Given the description of an element on the screen output the (x, y) to click on. 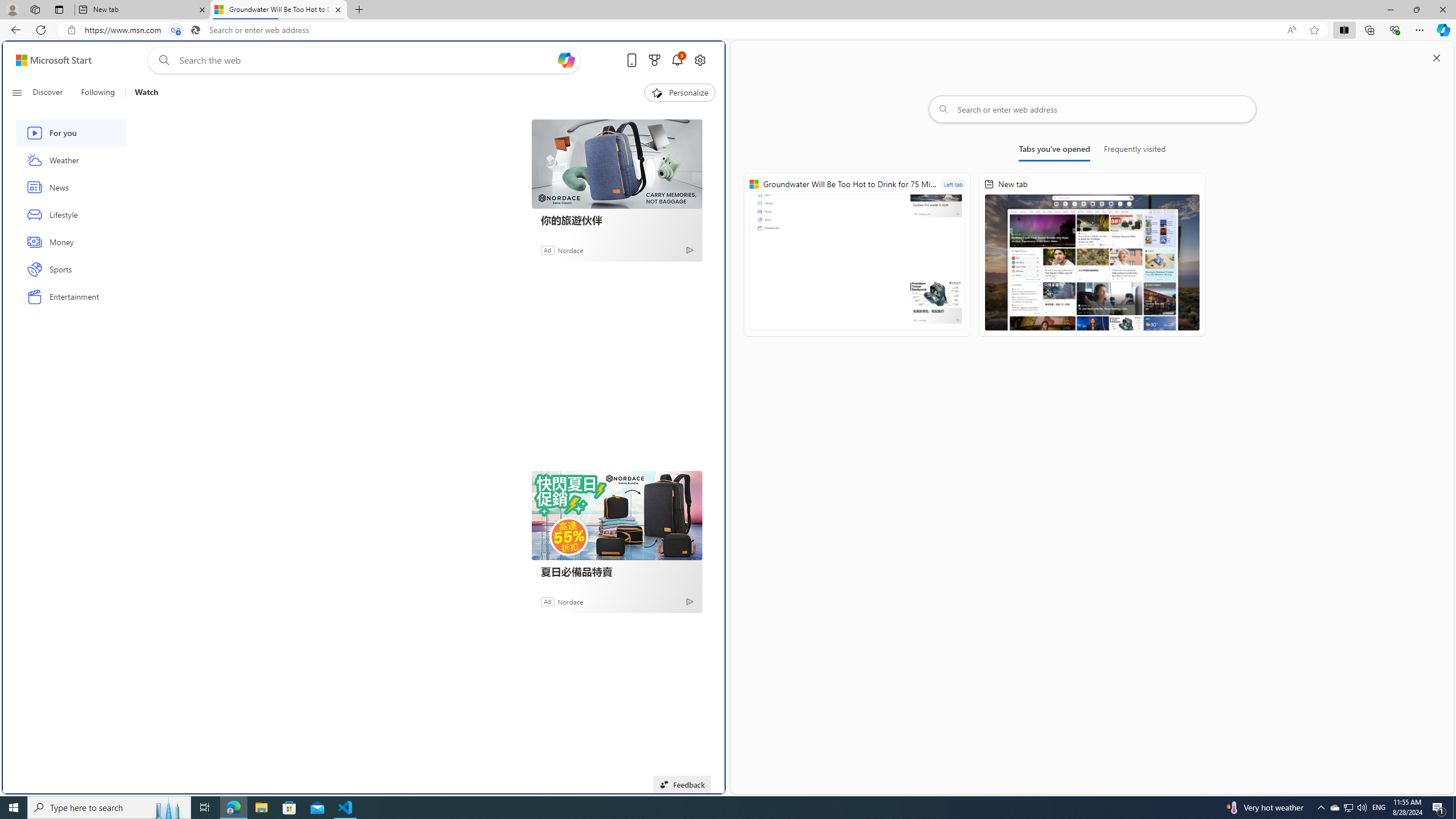
Search or enter web address (1092, 108)
Web search (161, 60)
Address and search bar (680, 29)
Collections (1369, 29)
Ad Choice (689, 601)
Frequently visited (1134, 151)
New Tab (358, 9)
Add this page to favorites (Ctrl+D) (1314, 29)
Browser essentials (1394, 29)
Following (97, 92)
Skip to content (49, 59)
Discover (47, 92)
Refresh (40, 29)
